Given the description of an element on the screen output the (x, y) to click on. 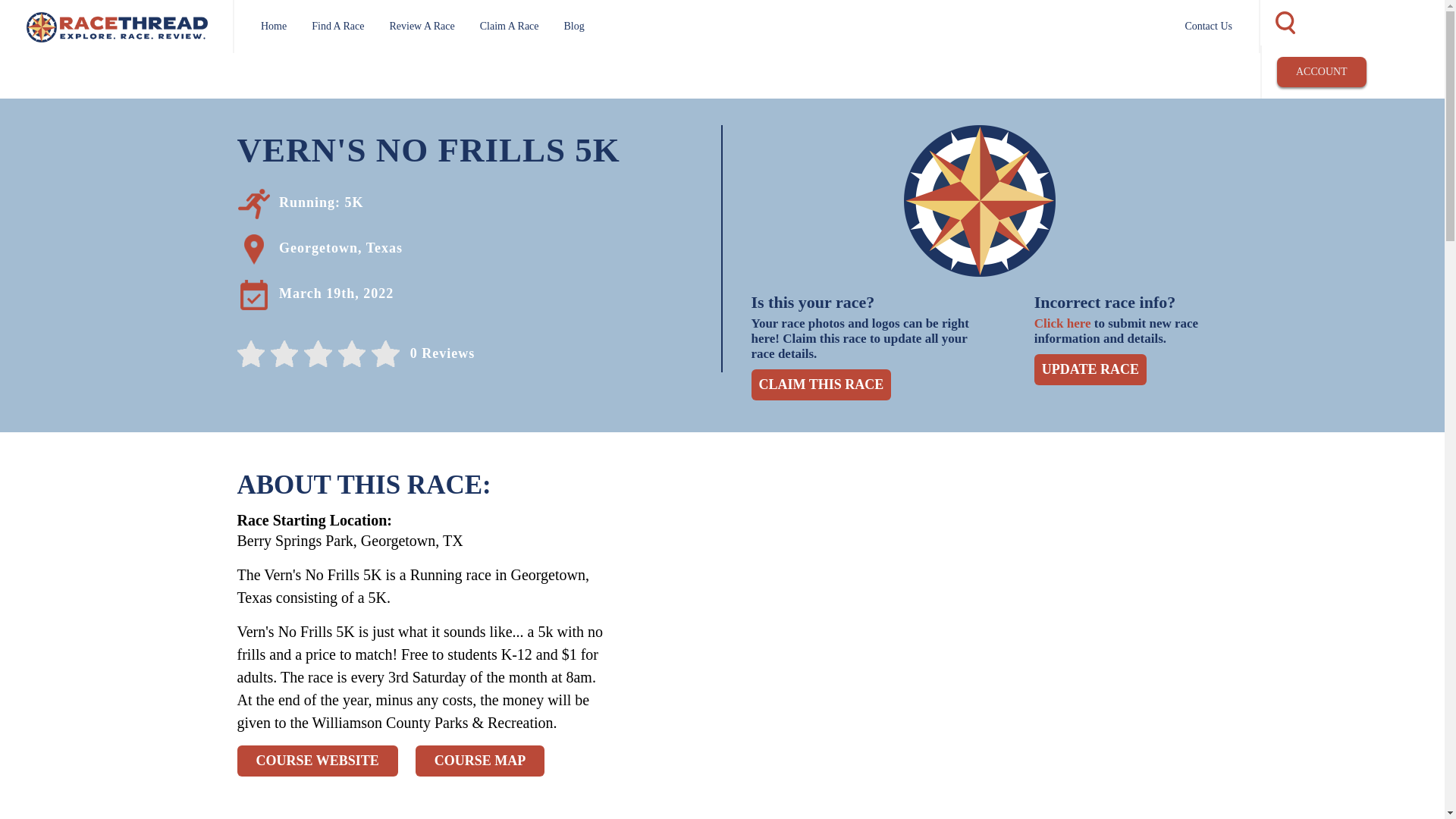
ACCOUNT (1321, 71)
Review A Race (421, 25)
COURSE MAP (479, 760)
Contact Us (1208, 25)
UPDATE RACE (1090, 368)
CLAIM THIS RACE (821, 384)
COURSE WEBSITE (316, 760)
Home (273, 25)
Blog (574, 25)
Find A Race (337, 25)
Click here (1061, 323)
Claim A Race (509, 25)
